Given the description of an element on the screen output the (x, y) to click on. 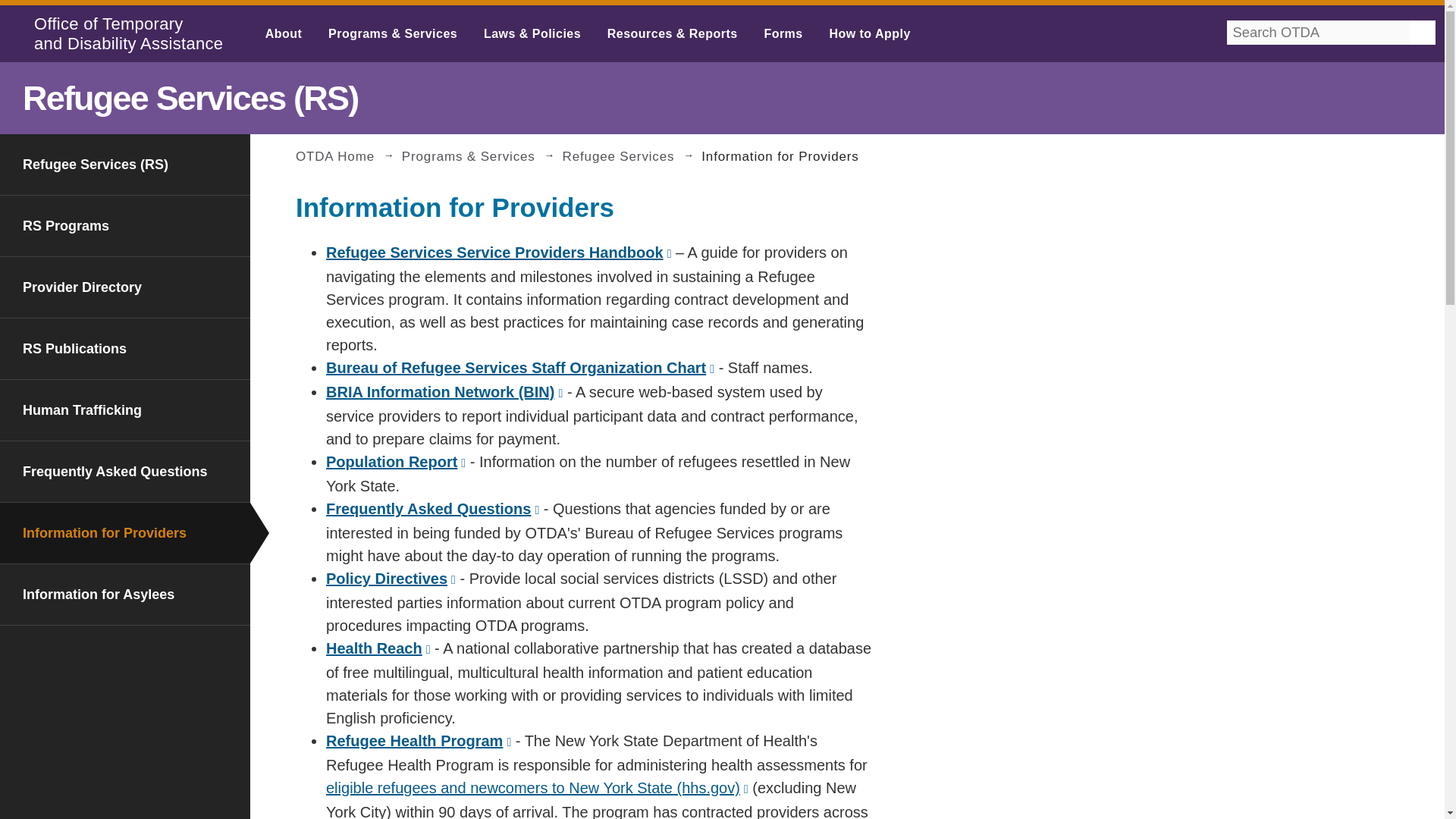
Refugee Health Program (418, 740)
RS Publications (125, 349)
Refugee Services Service Providers Handbook (498, 252)
How to Apply (868, 33)
Search OTDA (1308, 48)
RS Programs (125, 226)
Forms (782, 33)
Information for Providers (125, 532)
Population Report (395, 461)
